Given the description of an element on the screen output the (x, y) to click on. 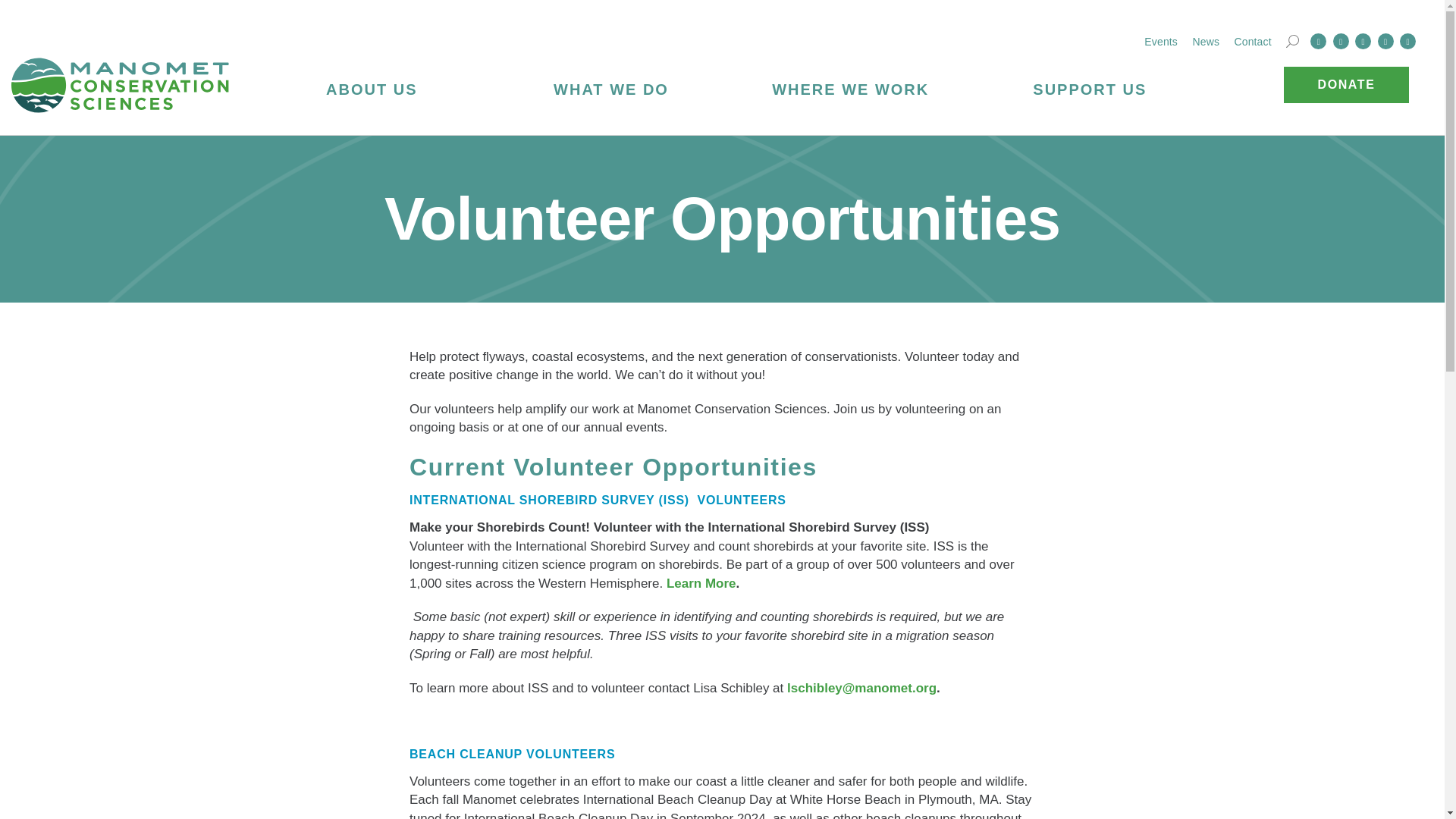
Twitter (1341, 41)
Events (1160, 41)
Instagram (1385, 41)
Manomet (120, 85)
SUPPORT US (1090, 87)
WHAT WE DO (611, 87)
News (1206, 41)
Linkedin (1363, 41)
Search (1291, 41)
ABOUT US (371, 87)
Contact (1252, 41)
WHERE WE WORK (850, 87)
YouTube (1407, 41)
Facebook (1318, 41)
